Given the description of an element on the screen output the (x, y) to click on. 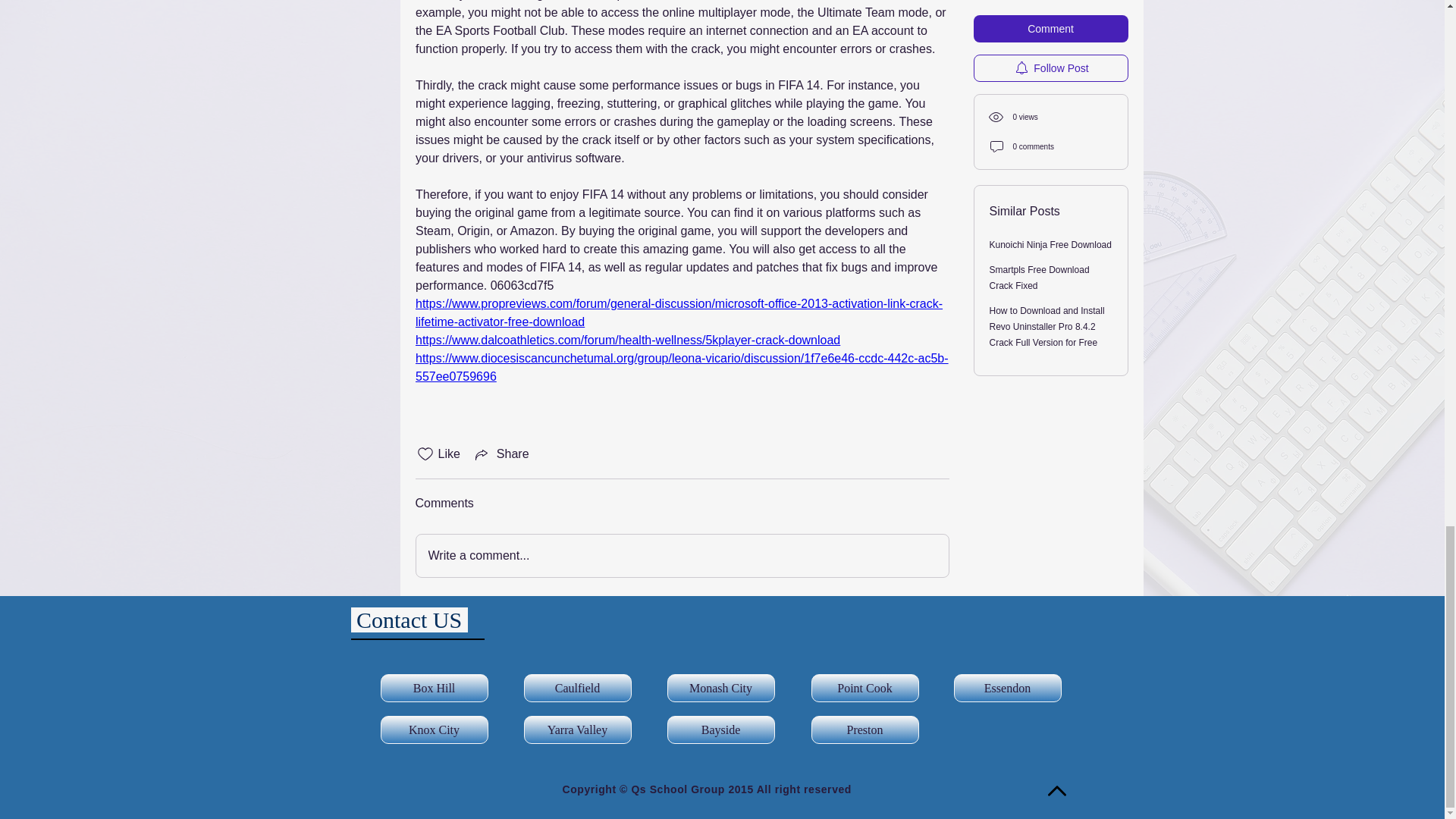
Write a comment... (680, 555)
Monash City (720, 687)
Preston (864, 729)
Caulfield (576, 687)
Bayside (720, 729)
Knox City (433, 729)
Yarra Valley (576, 729)
Share (500, 454)
Essendon (1007, 687)
Point Cook (864, 687)
Box Hill (433, 687)
